Given the description of an element on the screen output the (x, y) to click on. 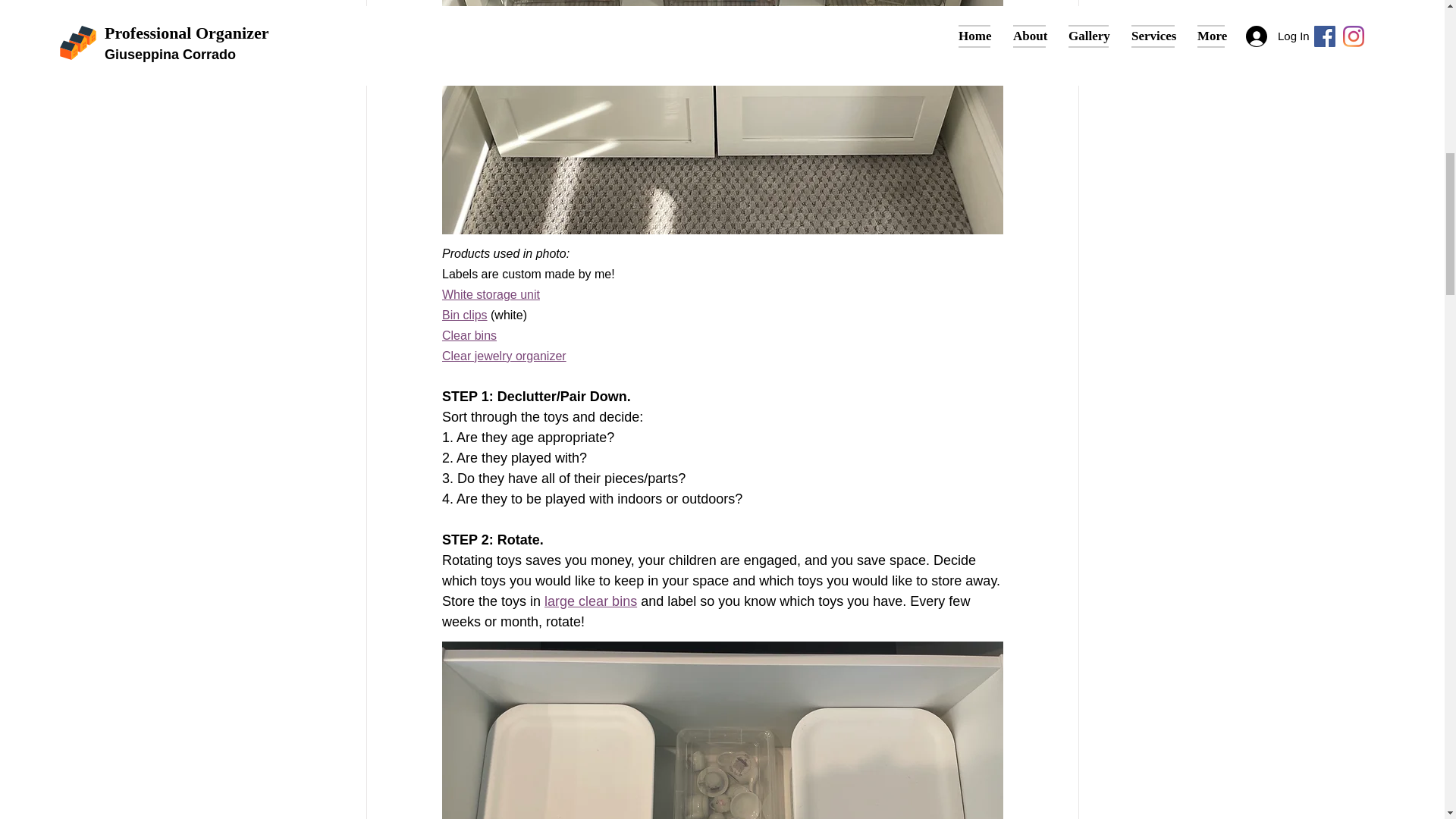
Clear jewelry organizer (503, 355)
Clear bins (468, 335)
large clear bins (590, 601)
Bin clips (463, 314)
White storage unit (489, 294)
